Given the description of an element on the screen output the (x, y) to click on. 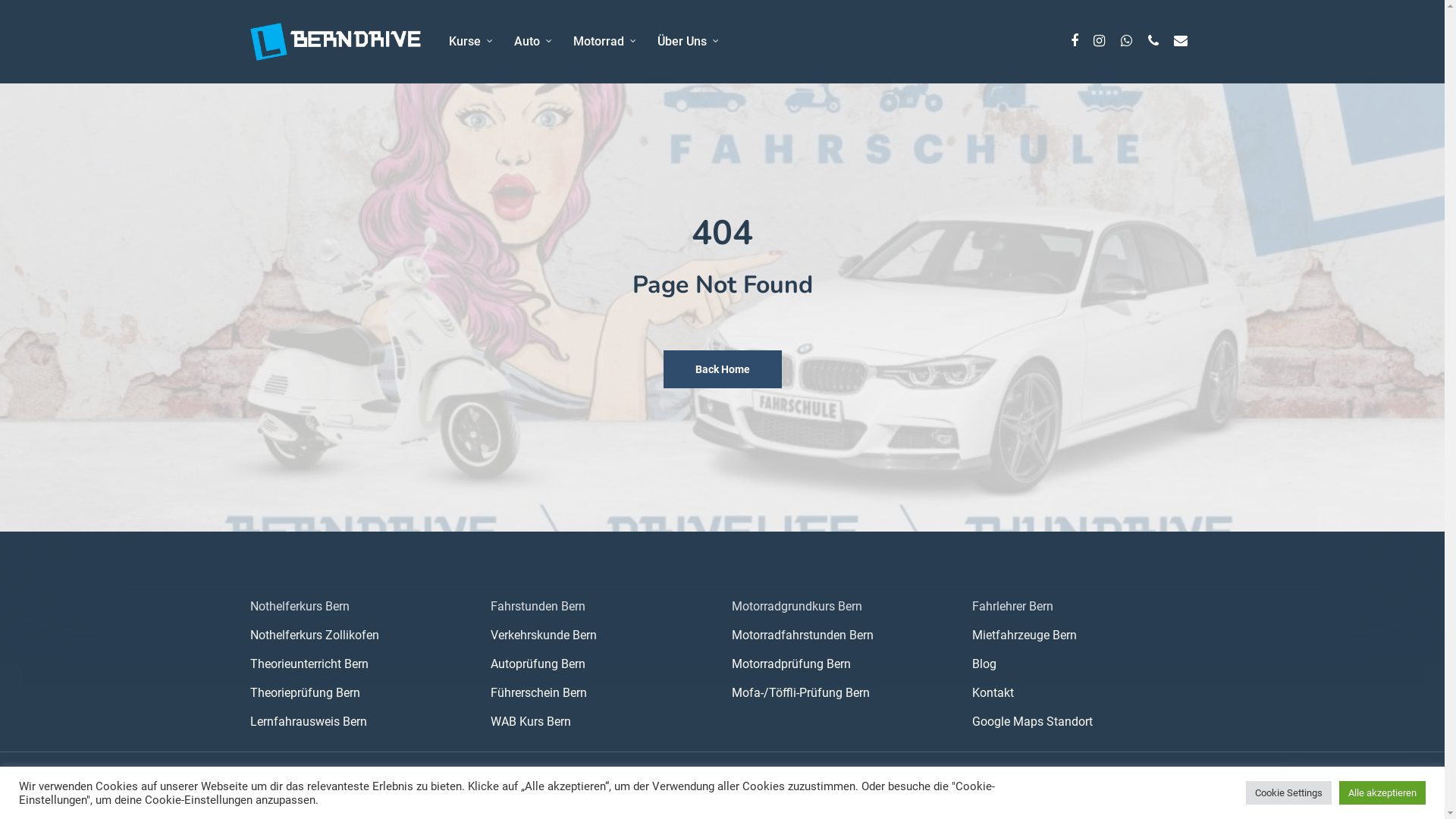
Instagram Element type: text (1098, 41)
Email Element type: text (1180, 41)
Nothelferkurs Zollikofen Element type: text (361, 635)
Motorrad Element type: text (606, 41)
Fahrlehrer Bern Element type: text (1083, 606)
Motorradfahrstunden Bern Element type: text (842, 635)
Lernfahrausweis Bern Element type: text (361, 721)
Motorradgrundkurs Bern Element type: text (842, 606)
Mietfahrzeuge Bern Element type: text (1083, 635)
Cookie Settings Element type: text (1288, 792)
Fahrstunden Bern Element type: text (601, 606)
Whatsapp Element type: text (1125, 41)
Facebook Element type: text (1074, 41)
Verkehrskunde Bern Element type: text (601, 635)
Alle akzeptieren Element type: text (1382, 792)
Theorieunterricht Bern Element type: text (361, 663)
Blog Element type: text (1083, 663)
Back Home Element type: text (721, 369)
Kurse Element type: text (471, 41)
Kontakt Element type: text (1083, 692)
Auto Element type: text (534, 41)
Google Maps Standort Element type: text (1083, 721)
Phone Element type: text (1153, 41)
WAB Kurs Bern Element type: text (601, 721)
Nothelferkurs Bern Element type: text (361, 606)
